Given the description of an element on the screen output the (x, y) to click on. 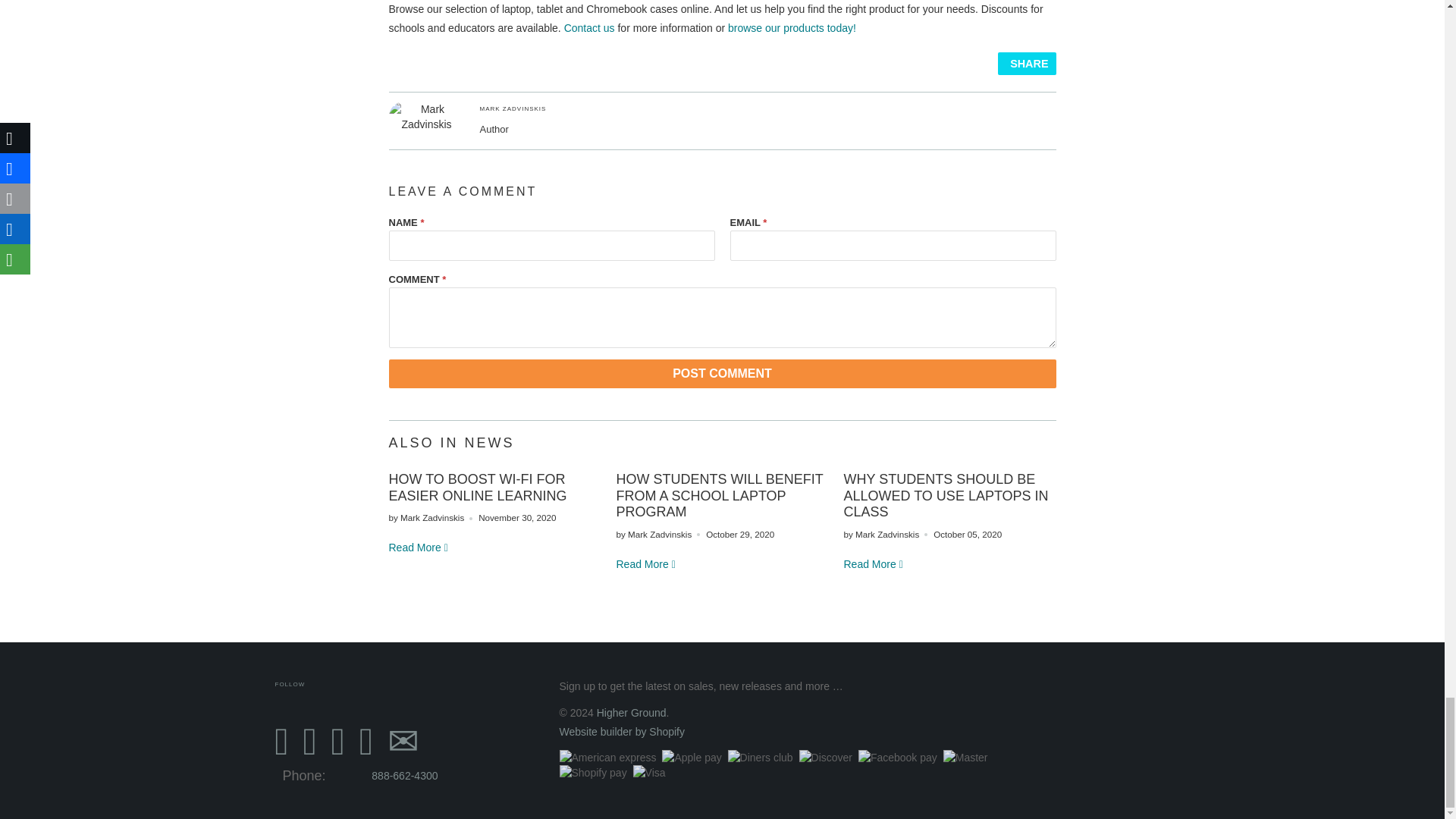
Higher Ground on YouTube (338, 741)
How Students Will Benefit From a School Laptop Program (718, 495)
Higher Ground on Instagram (365, 741)
How to Boost Wi-Fi for Easier Online Learning (477, 487)
Post comment (721, 373)
What's the Right Age to Introduce Your Kid to Computers? (418, 547)
What's the Right Age to Introduce Your Kid to Computers? (646, 563)
Higher Ground on Twitter (281, 741)
Email Higher Ground (403, 741)
Why Students Should Be Allowed to Use Laptops in Class (945, 495)
What's the Right Age to Introduce Your Kid to Computers? (873, 563)
Higher Ground on Facebook (309, 741)
